Given the description of an element on the screen output the (x, y) to click on. 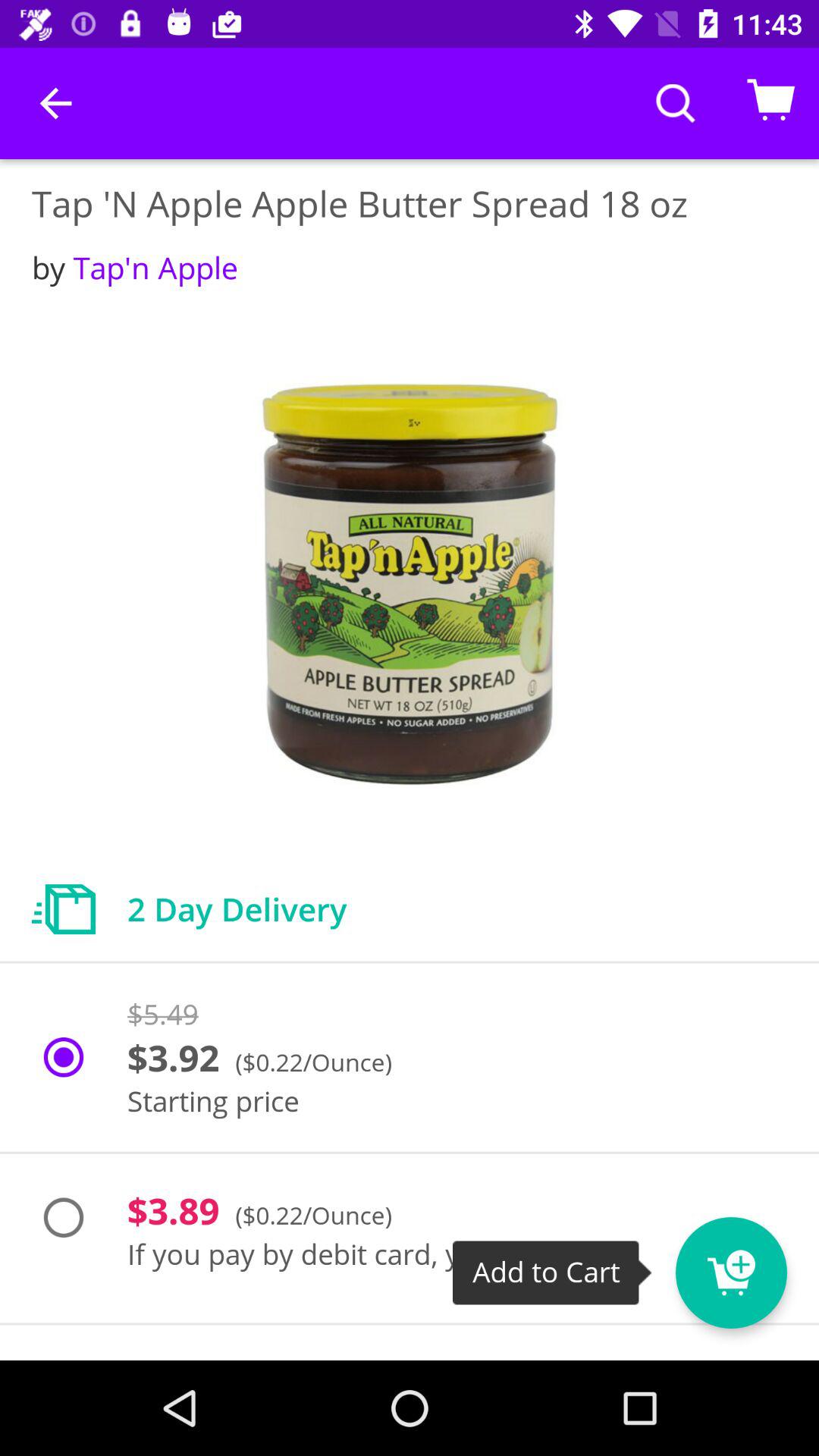
tap item next to if you pay item (759, 1263)
